Given the description of an element on the screen output the (x, y) to click on. 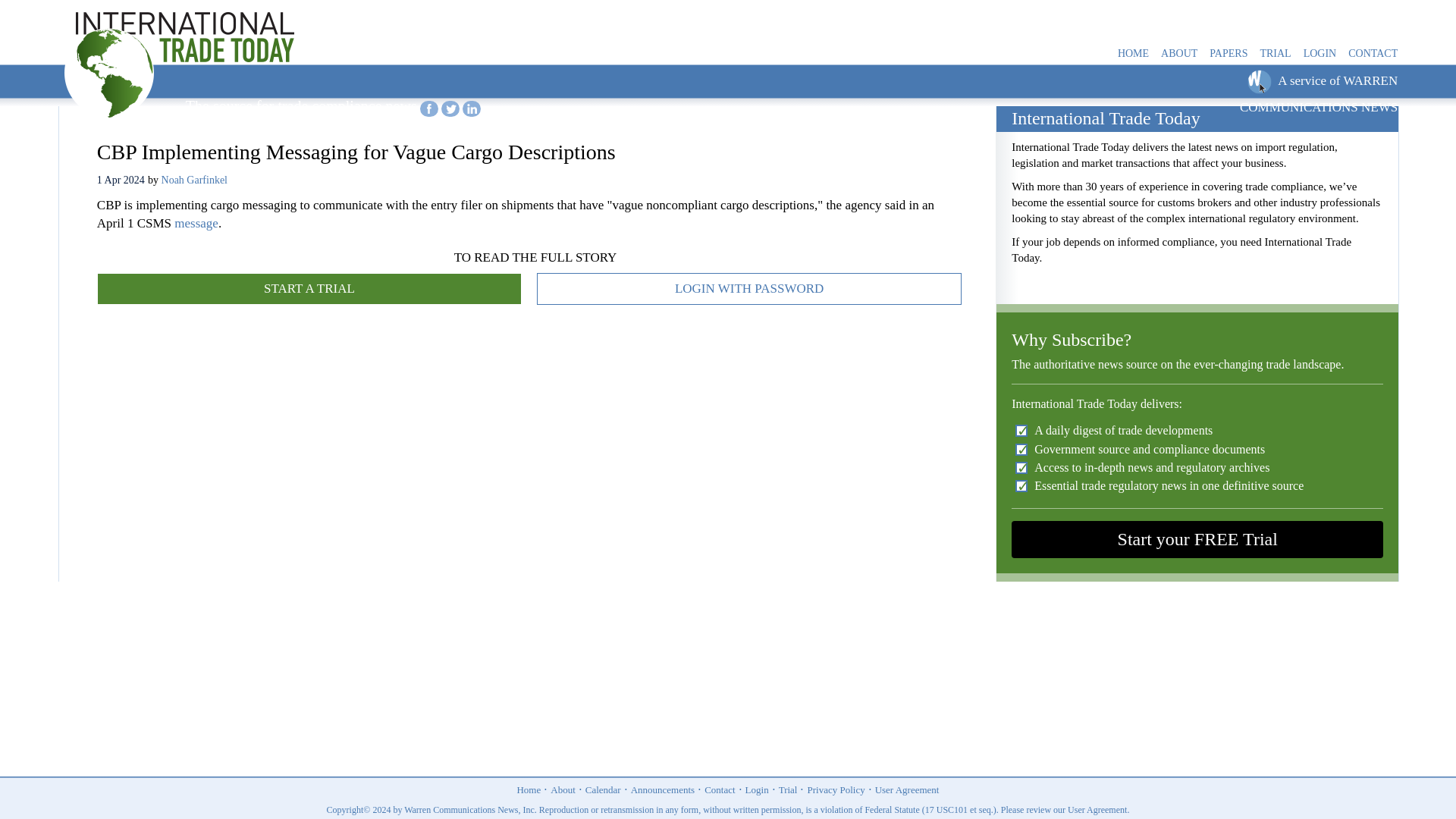
LOGIN (1319, 53)
message (196, 223)
Noah Garfinkel (194, 179)
START A TRIAL (309, 288)
HOME (1133, 53)
LOGIN WITH PASSWORD (748, 288)
A service of WARREN COMMUNICATIONS NEWS (1318, 93)
PAPERS (1228, 53)
TRIAL (1274, 53)
ABOUT (1178, 53)
CONTACT (1372, 53)
